Given the description of an element on the screen output the (x, y) to click on. 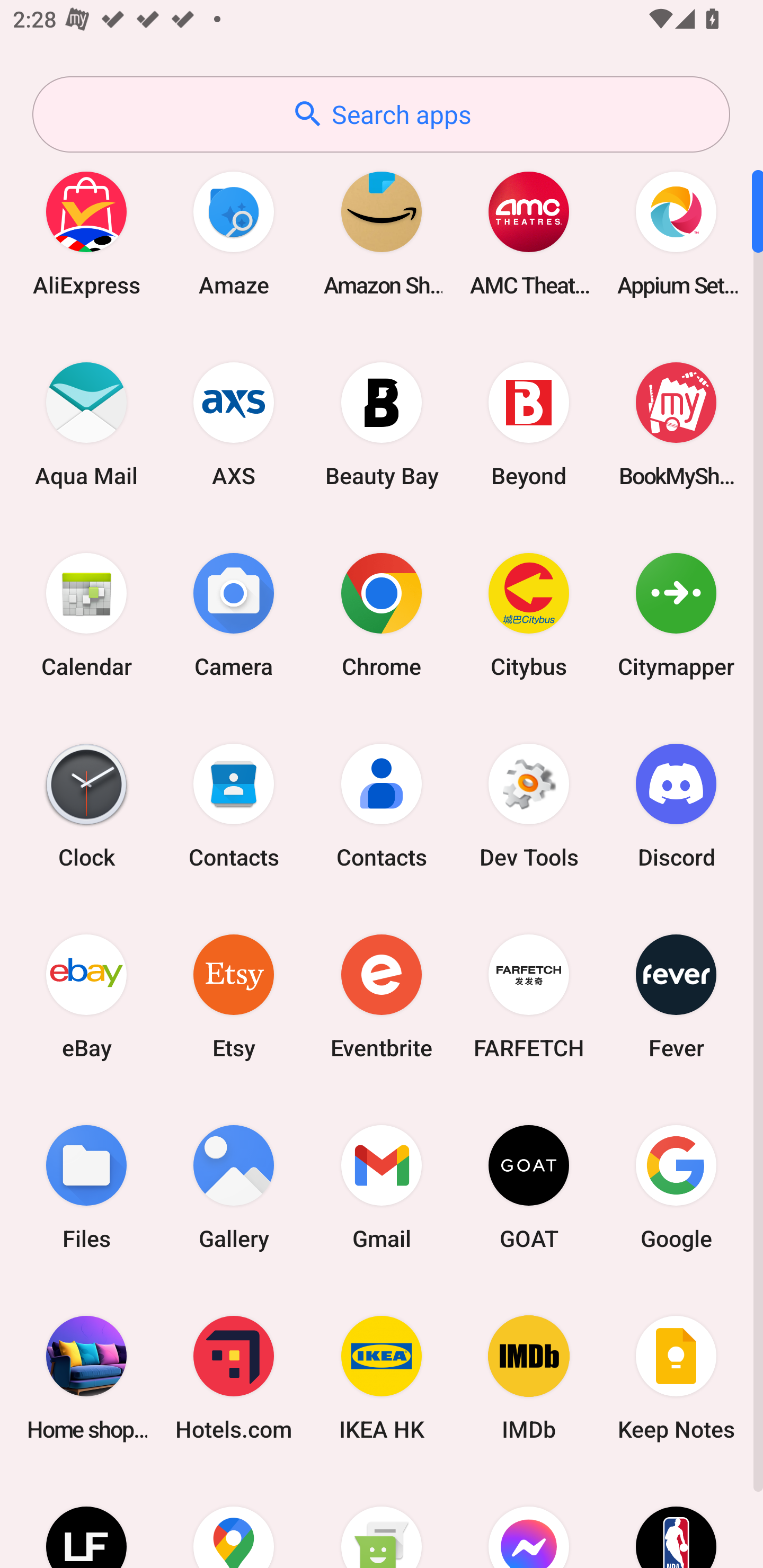
Citymapper (676, 614)
